Given the description of an element on the screen output the (x, y) to click on. 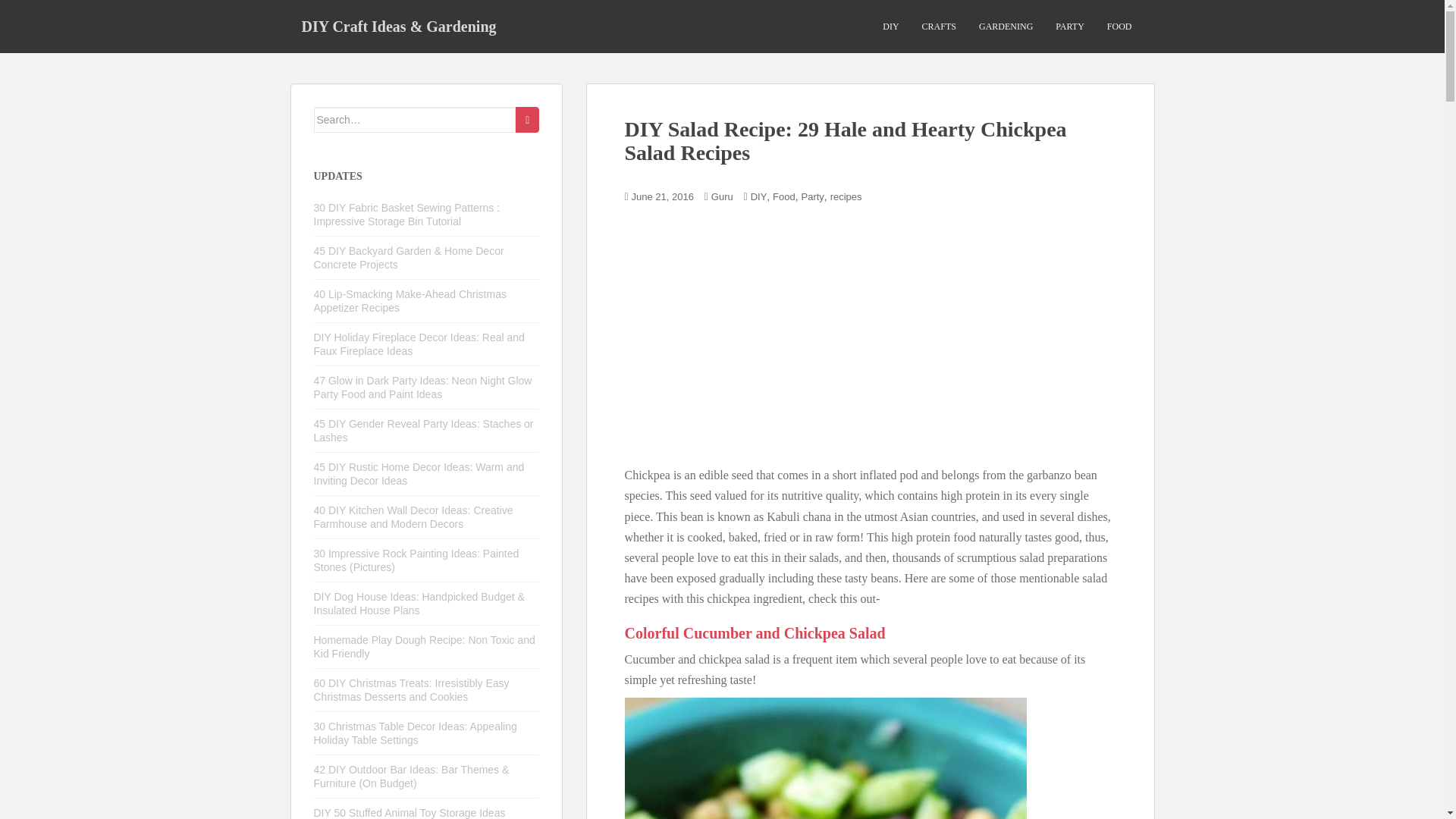
Advertisement (751, 334)
PARTY (1069, 26)
Food (783, 196)
CRAFTS (938, 26)
Party (813, 196)
DIY (759, 196)
GARDENING (1005, 26)
Search for: (415, 119)
June 21, 2016 (662, 196)
recipes (845, 196)
Guru (722, 196)
